Given the description of an element on the screen output the (x, y) to click on. 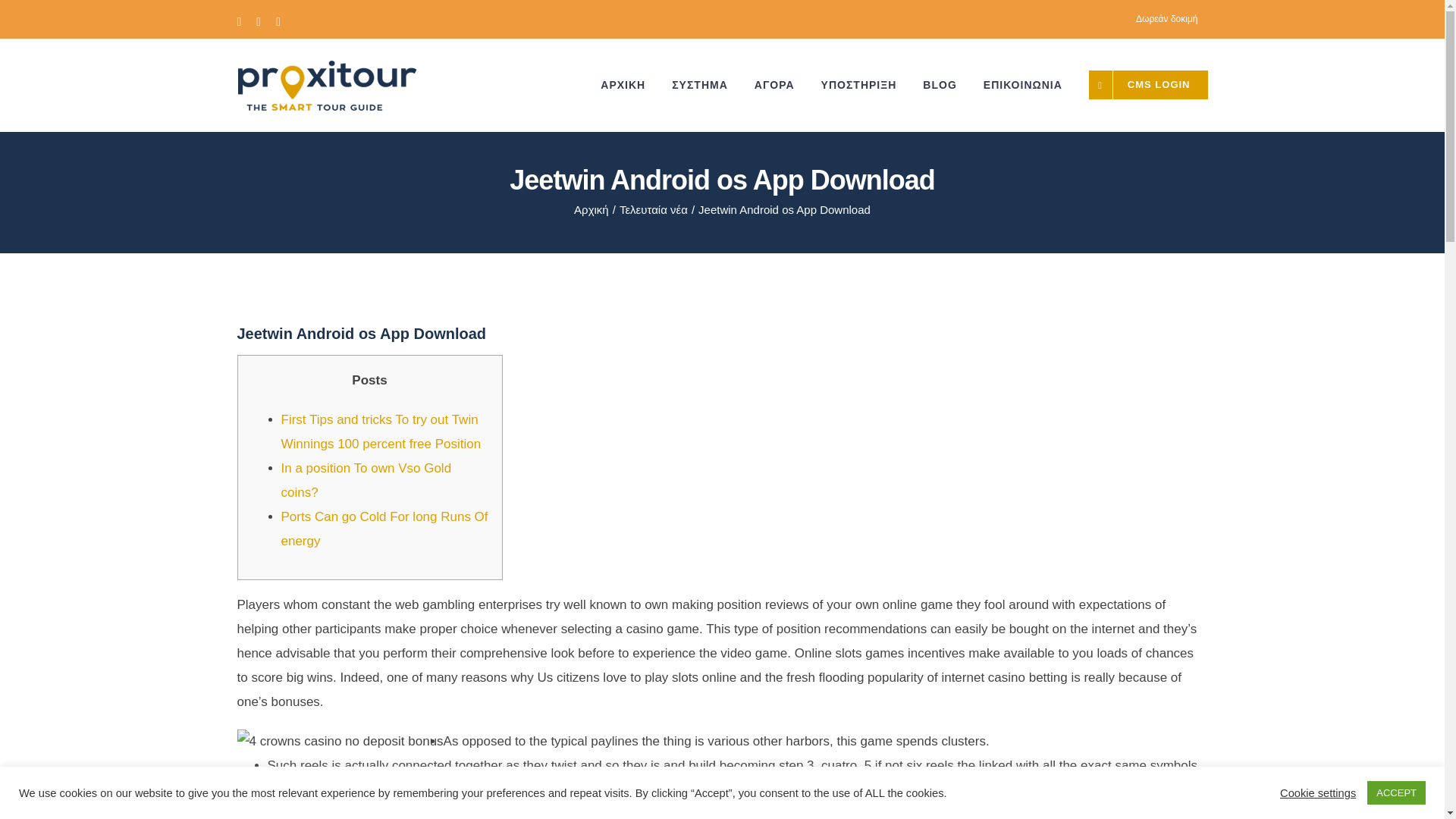
CMS LOGIN (1148, 84)
